Given the description of an element on the screen output the (x, y) to click on. 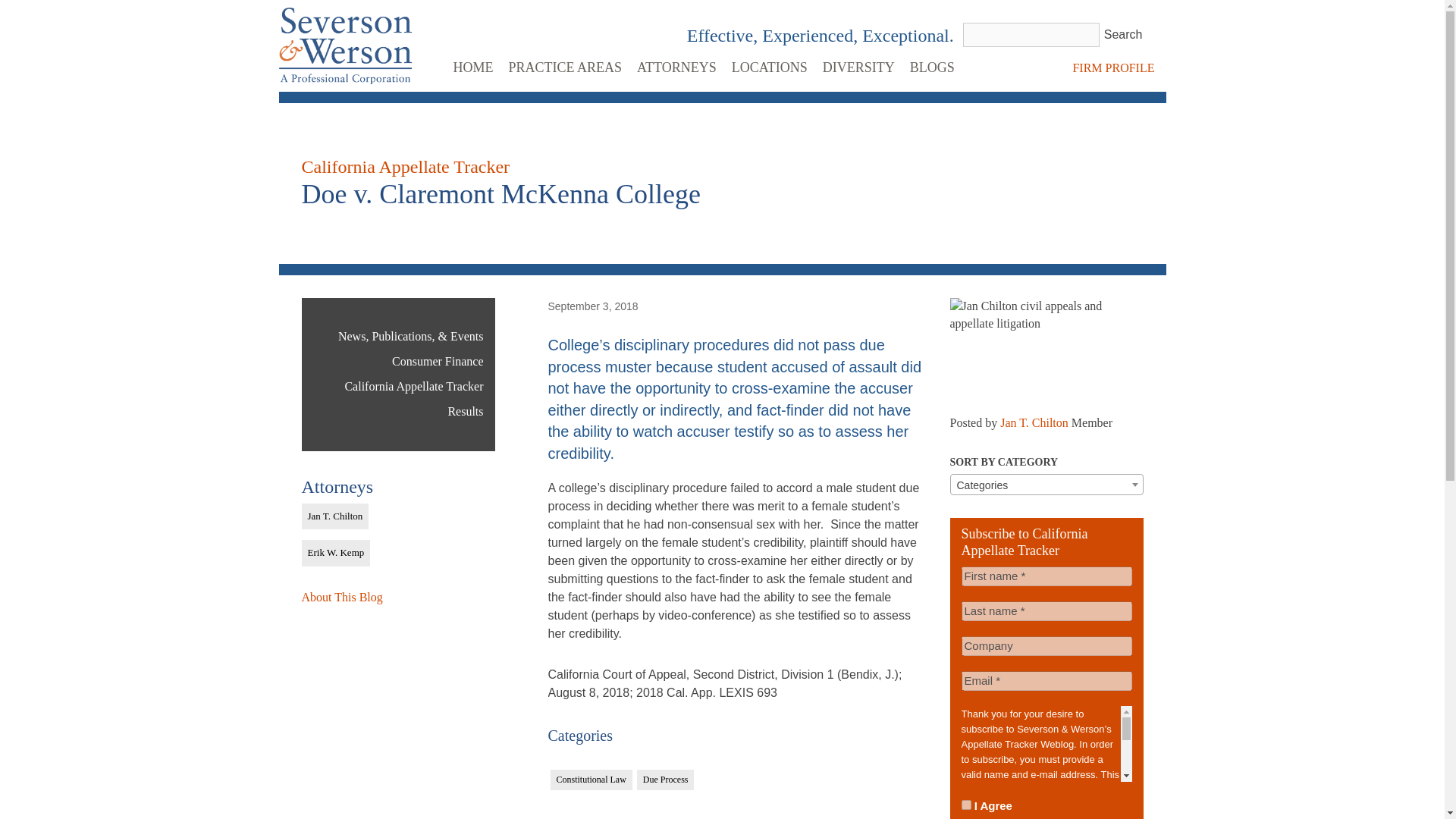
Jan T. Chilton (335, 516)
Diversity (862, 67)
Jan T. Chilton (1034, 423)
DIVERSITY (862, 67)
Erik W. Kemp (336, 552)
Consumer Finance (437, 361)
Locations (773, 67)
Home (476, 67)
HOME (476, 67)
Jan T. Chilton (335, 516)
Blogs (936, 67)
Due Process (665, 779)
About This Weblog Legal Notes (341, 597)
Search (1123, 34)
Constitutional Law (590, 779)
